Given the description of an element on the screen output the (x, y) to click on. 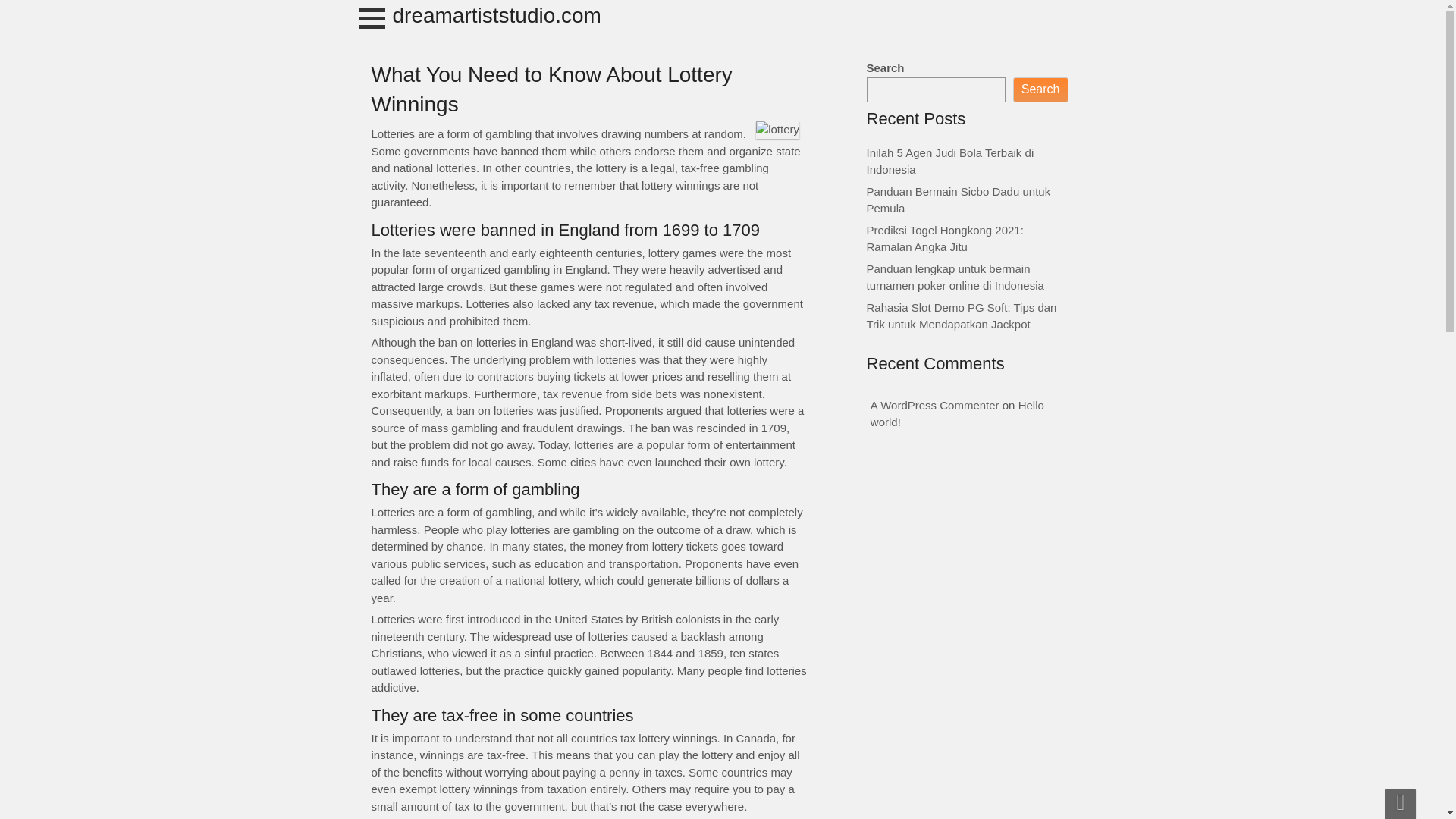
Inilah 5 Agen Judi Bola Terbaik di Indonesia (949, 160)
Search (1040, 89)
Panduan Bermain Sicbo Dadu untuk Pemula (957, 200)
A WordPress Commenter (934, 404)
dreamartiststudio.com (497, 15)
Prediksi Togel Hongkong 2021: Ramalan Angka Jitu (944, 237)
Hello world! (956, 413)
